Given the description of an element on the screen output the (x, y) to click on. 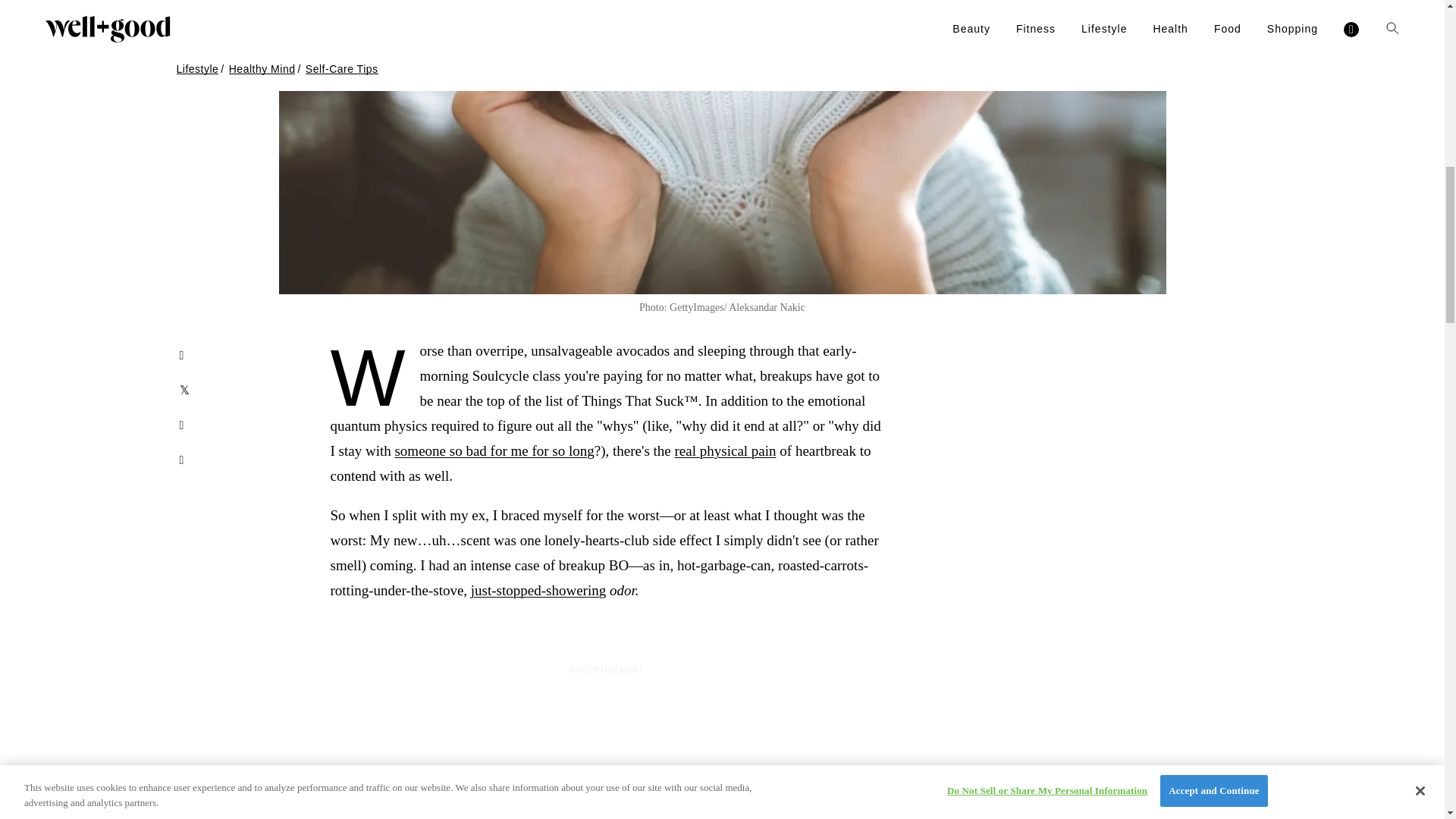
3rd party ad content (1154, 432)
3rd party ad content (606, 757)
